Given the description of an element on the screen output the (x, y) to click on. 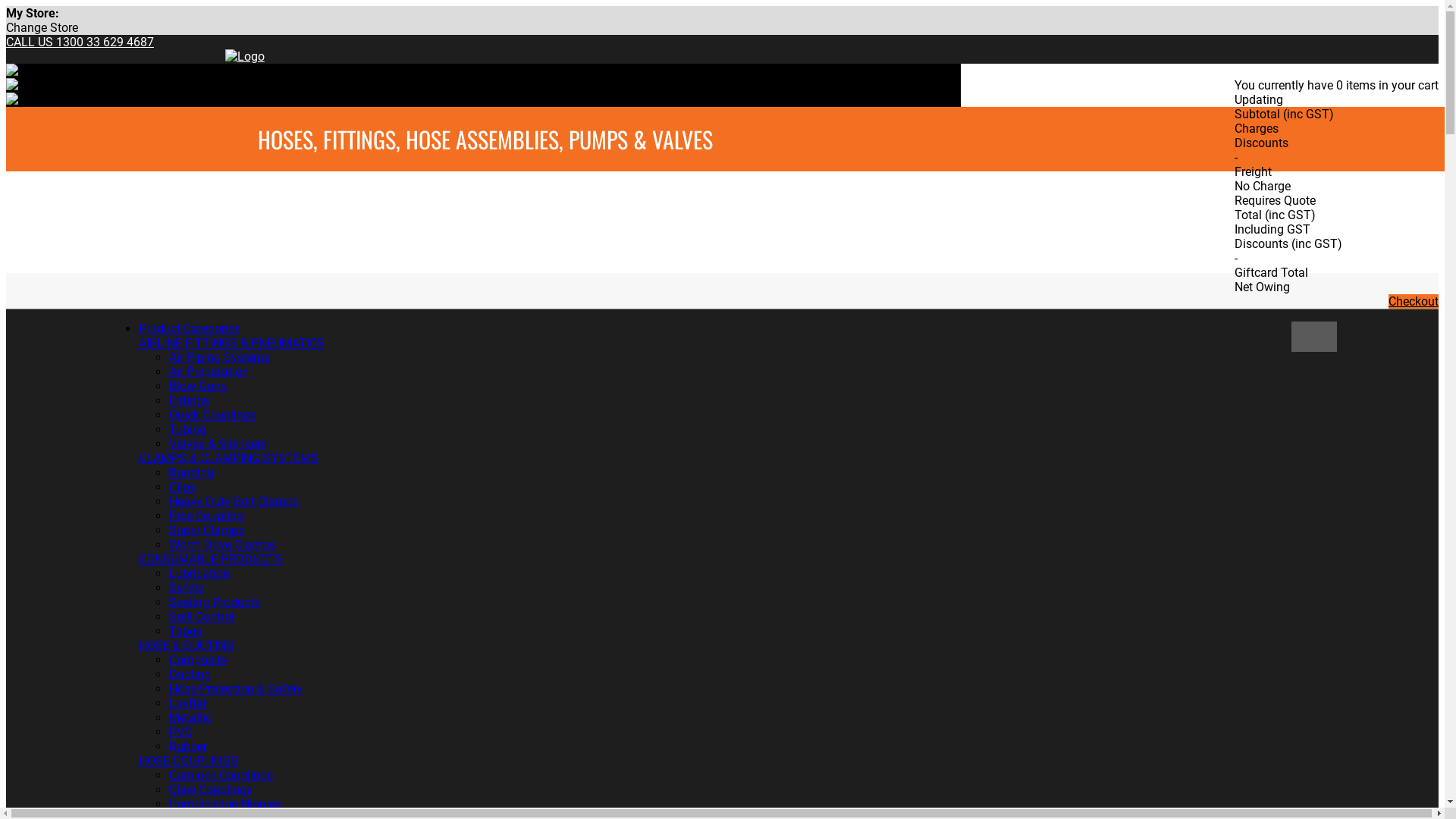
Metallic Element type: text (189, 717)
Worm Drive Clamps Element type: text (221, 544)
HOSE COUPLINGS Element type: text (187, 760)
Combination Nipples Element type: text (224, 804)
Air Piping Systems Element type: text (218, 357)
Pipe Coupling Element type: text (205, 515)
Super Clamps Element type: text (205, 530)
Checkout Element type: text (1413, 301)
Ducting Element type: text (189, 674)
Layflat Element type: text (186, 703)
Quick Couplings Element type: text (211, 414)
Tapes Element type: text (184, 631)
Rubber Element type: text (187, 746)
CALL US 1300 33 629 4687 Element type: text (79, 41)
Fittings Element type: text (188, 400)
Air Preparation Element type: text (207, 371)
Camlock Couplings Element type: text (220, 775)
Tubing Element type: text (186, 429)
HOSE & DUCTING Element type: text (185, 645)
Login / Register Element type: text (1186, 70)
AIRLINE FITTINGS & PNEUMATICS Element type: text (230, 342)
PVC Element type: text (179, 731)
Claw Couplings Element type: text (209, 789)
Sealing Products Element type: text (213, 602)
$0.00 (0 items) Element type: text (1274, 66)
CLAMPS & CLAMPING SYSTEMS Element type: text (227, 458)
Product Categories Element type: text (188, 328)
Hose Protection & Safety Element type: text (234, 688)
Lubrication Element type: text (198, 573)
Spill Control Element type: text (200, 616)
Banding Element type: text (190, 472)
Composite Element type: text (196, 659)
Clips Element type: text (181, 487)
Safety Element type: text (185, 587)
Valves & Silencers Element type: text (217, 443)
Blow Guns Element type: text (196, 386)
Heavy Duty Bolt Clamps Element type: text (233, 501)
CONSUMABLE PRODUCTS Element type: text (210, 559)
